Given the description of an element on the screen output the (x, y) to click on. 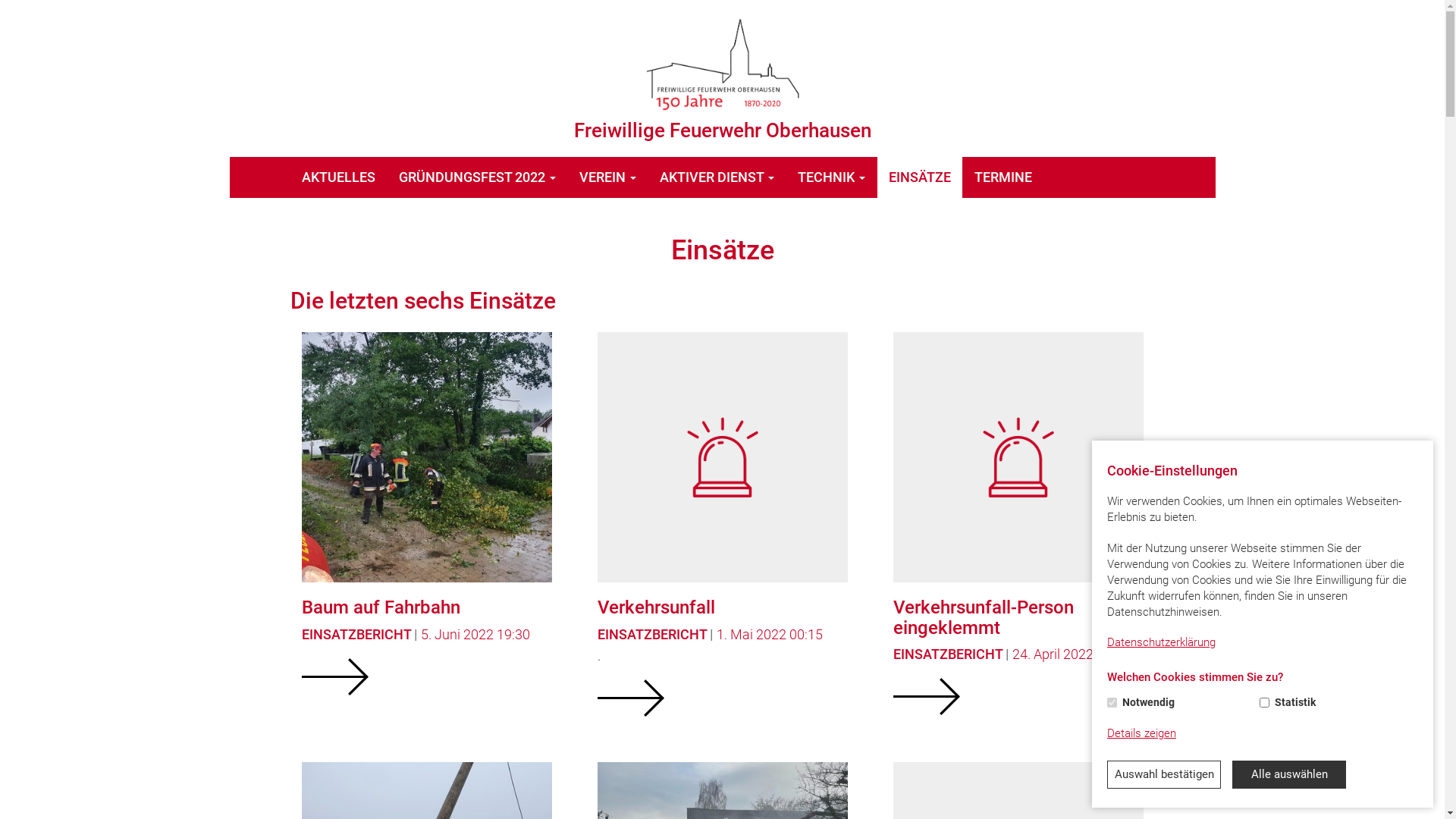
Baum auf Fahrbahn
EINSATZBERICHT | 5. Juni 2022 19:30 Element type: text (425, 524)
Freiwillige Feuerwehr Oberhausen Element type: text (721, 78)
Mehr dazu Element type: hover (630, 697)
TECHNIK Element type: text (830, 176)
AKTIVER DIENST Element type: text (716, 176)
TERMINE Element type: text (1003, 176)
Mehr dazu Element type: hover (926, 696)
Freiwillige Feuerwehr Oberhausen Element type: hover (721, 63)
VEREIN Element type: text (607, 176)
Verkehrsunfall
EINSATZBERICHT | 1. Mai 2022 00:15
. Element type: text (721, 524)
Mehr dazu Element type: hover (334, 676)
Details zeigen Element type: text (1141, 733)
AKTUELLES Element type: text (337, 176)
